Given the description of an element on the screen output the (x, y) to click on. 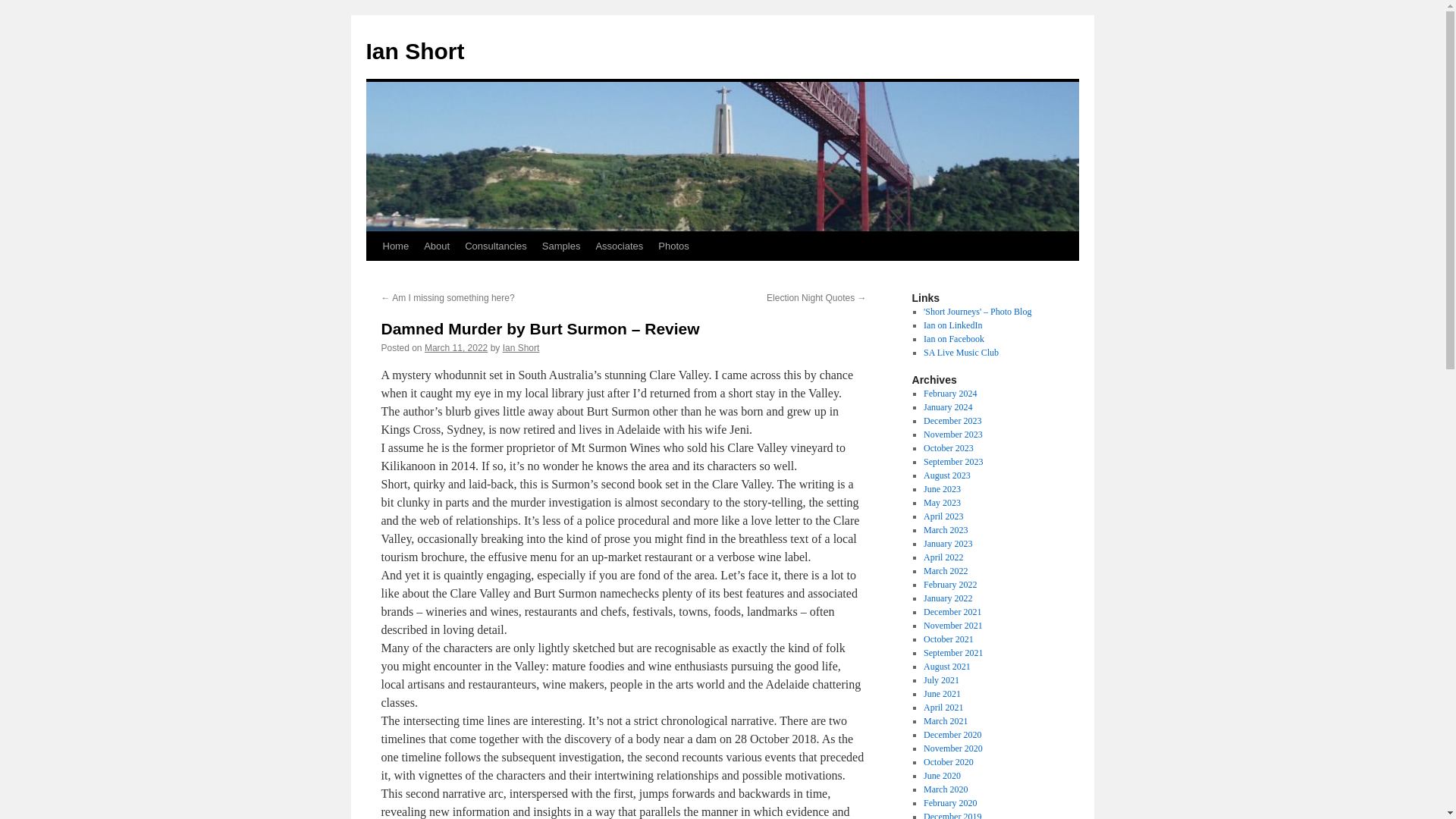
Ian Short (414, 50)
February 2024 (949, 393)
SA Live Music Club (960, 352)
Ian on LinkedIn (952, 325)
January 2024 (947, 407)
March 11, 2022 (456, 347)
Consultancies (495, 246)
November 2023 (952, 434)
Associates (619, 246)
Ian on Facebook (953, 338)
